Given the description of an element on the screen output the (x, y) to click on. 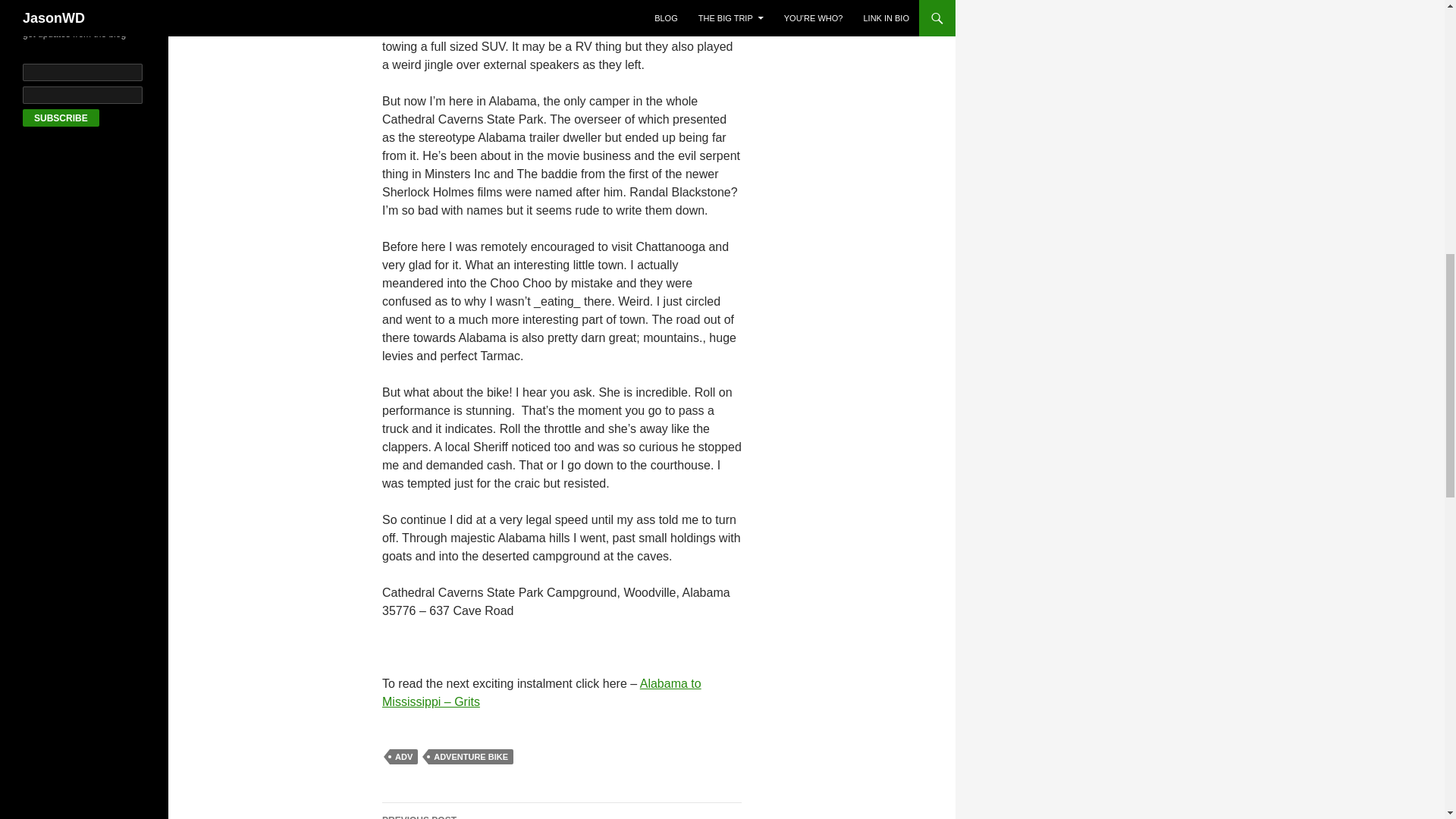
ADV (561, 811)
ADVENTURE BIKE (403, 756)
Subscribe (470, 756)
